Given the description of an element on the screen output the (x, y) to click on. 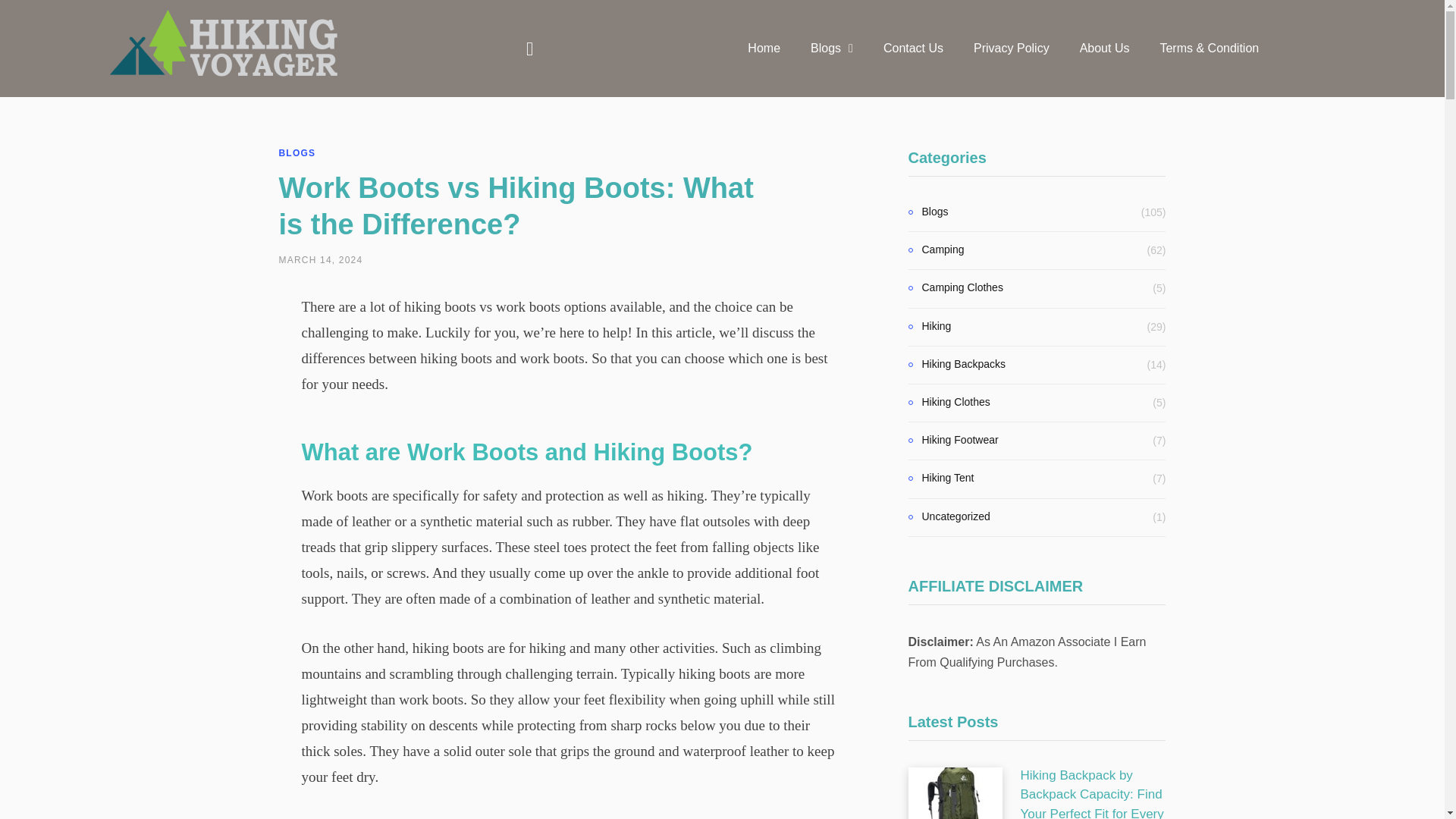
Blogs (830, 48)
Privacy Policy (1011, 48)
Home (763, 48)
About Us (1104, 48)
Contact Us (912, 48)
